Given the description of an element on the screen output the (x, y) to click on. 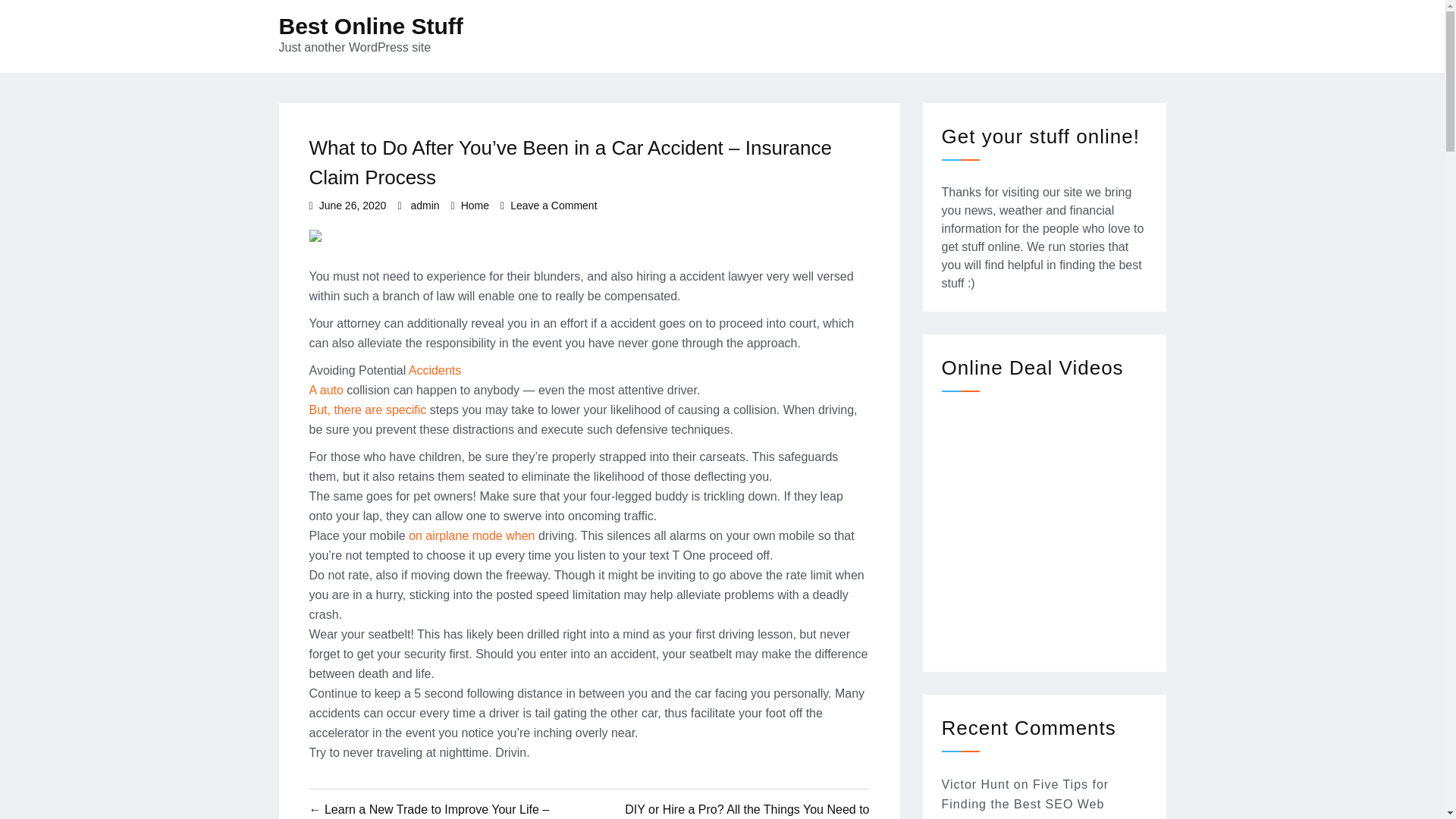
Five Tips for Finding the Best SEO Web Design Company (384, 379)
admin (1025, 798)
Home (424, 205)
June 26, 2020 (475, 205)
Victor Hunt (352, 205)
on airplane mode when (976, 784)
Best Online Stuff (473, 535)
But, there are specific (371, 25)
